Given the description of an element on the screen output the (x, y) to click on. 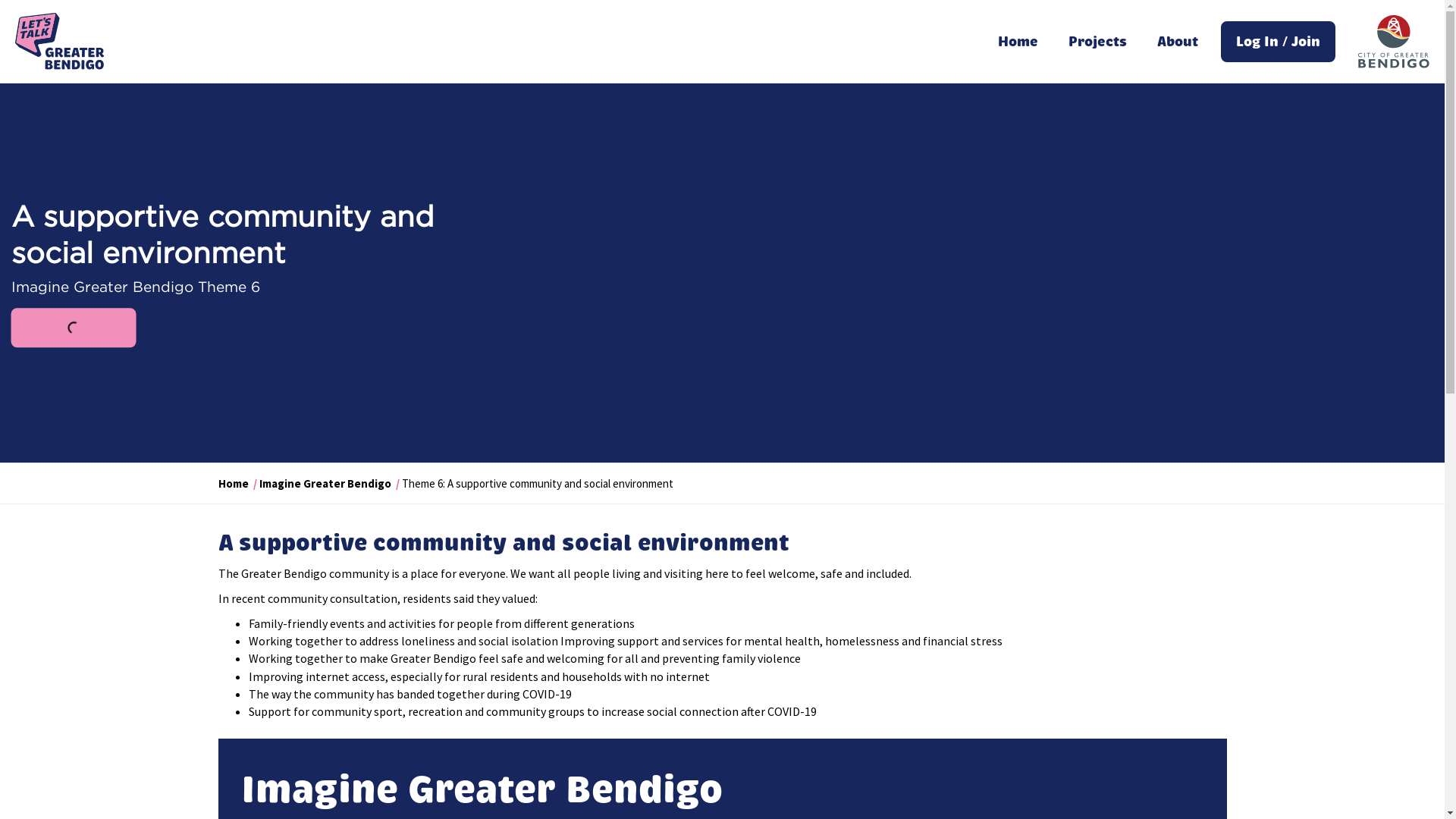
Home Element type: text (1017, 41)
Imagine Greater Bendigo Element type: text (325, 483)
Projects Element type: text (1097, 41)
About Element type: text (1177, 41)
Home Element type: text (233, 483)
Log In / Join Element type: text (1277, 41)
  Follow Element type: text (73, 327)
